Given the description of an element on the screen output the (x, y) to click on. 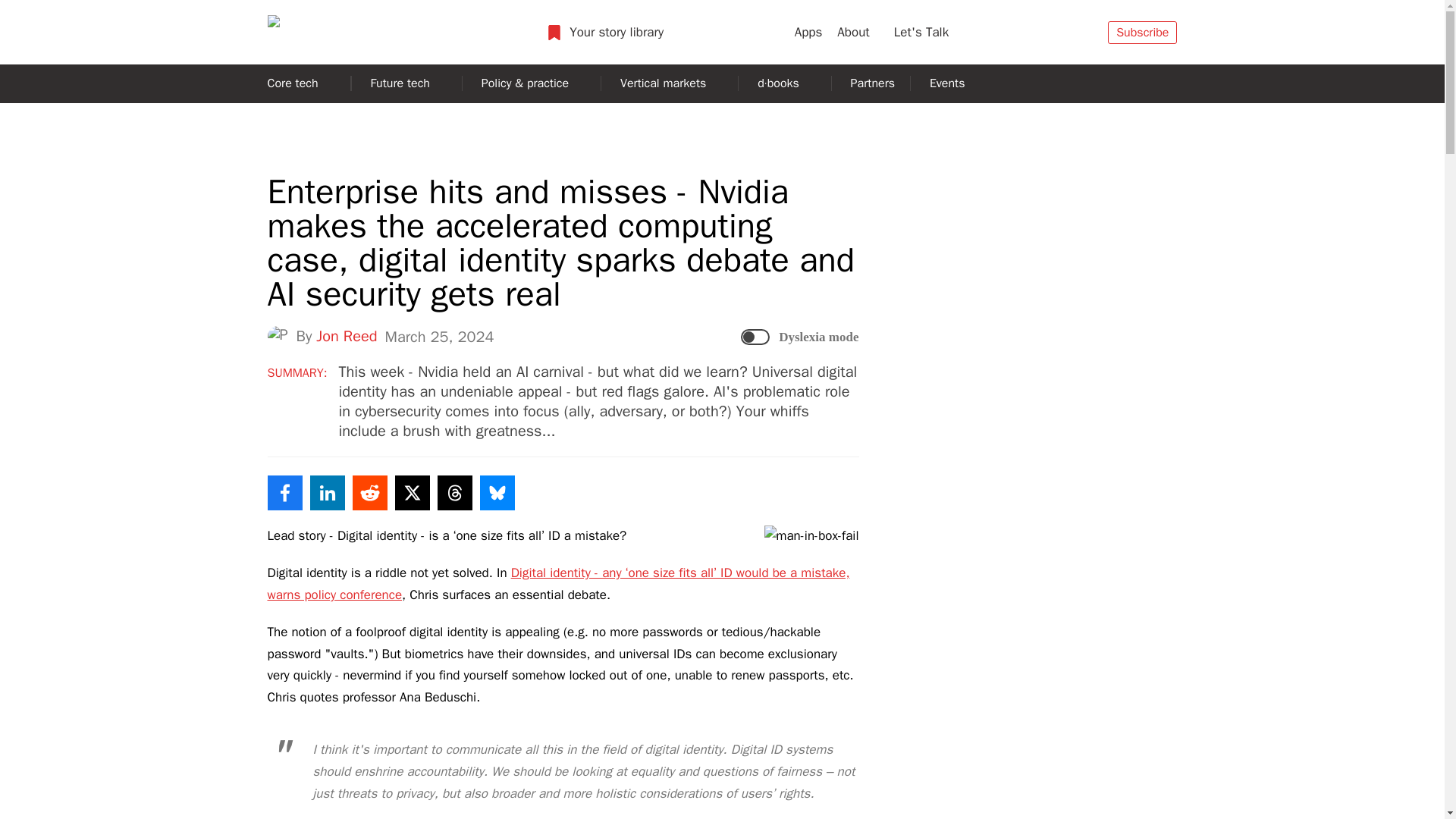
Core tech (300, 83)
Search toggler (981, 32)
Submit (1130, 64)
Let's Talk (921, 32)
Future tech (407, 83)
Apps (808, 32)
About (857, 32)
diginomica.com Home (1142, 32)
View user profile. (344, 32)
